Given the description of an element on the screen output the (x, y) to click on. 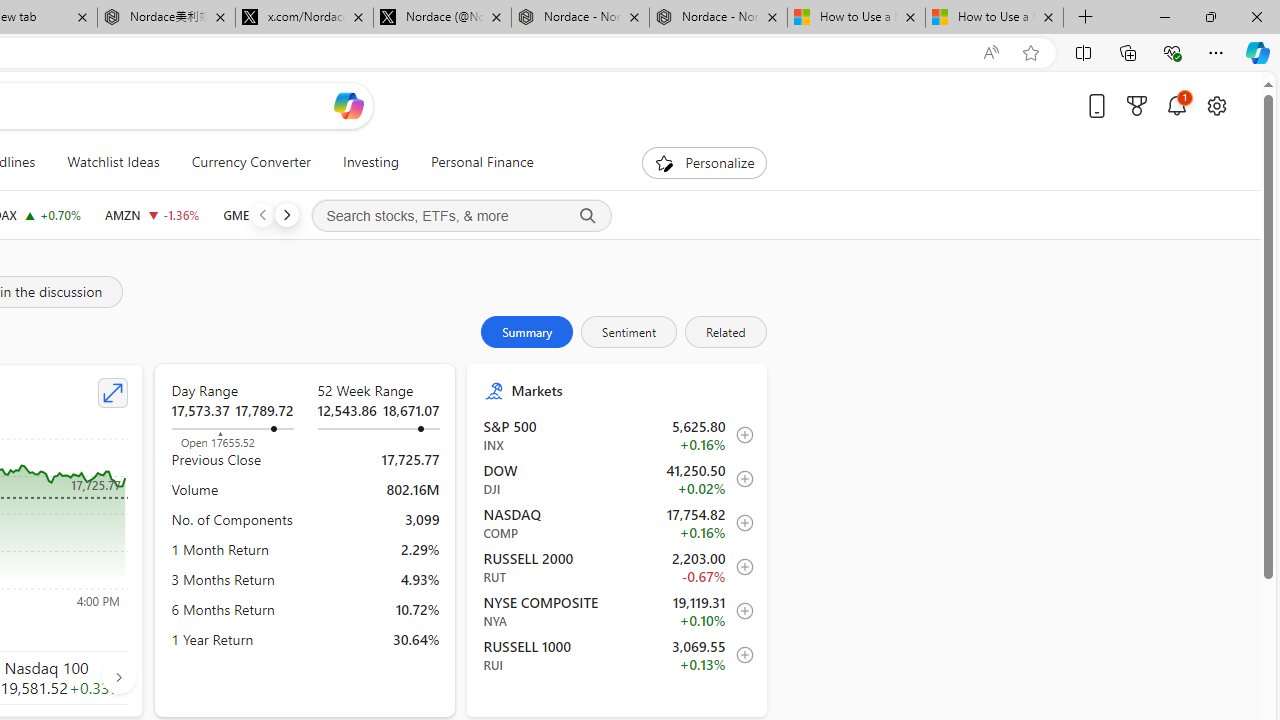
Notifications (1176, 105)
Related (724, 331)
Personalize (703, 162)
Microsoft rewards (1137, 105)
